Given the description of an element on the screen output the (x, y) to click on. 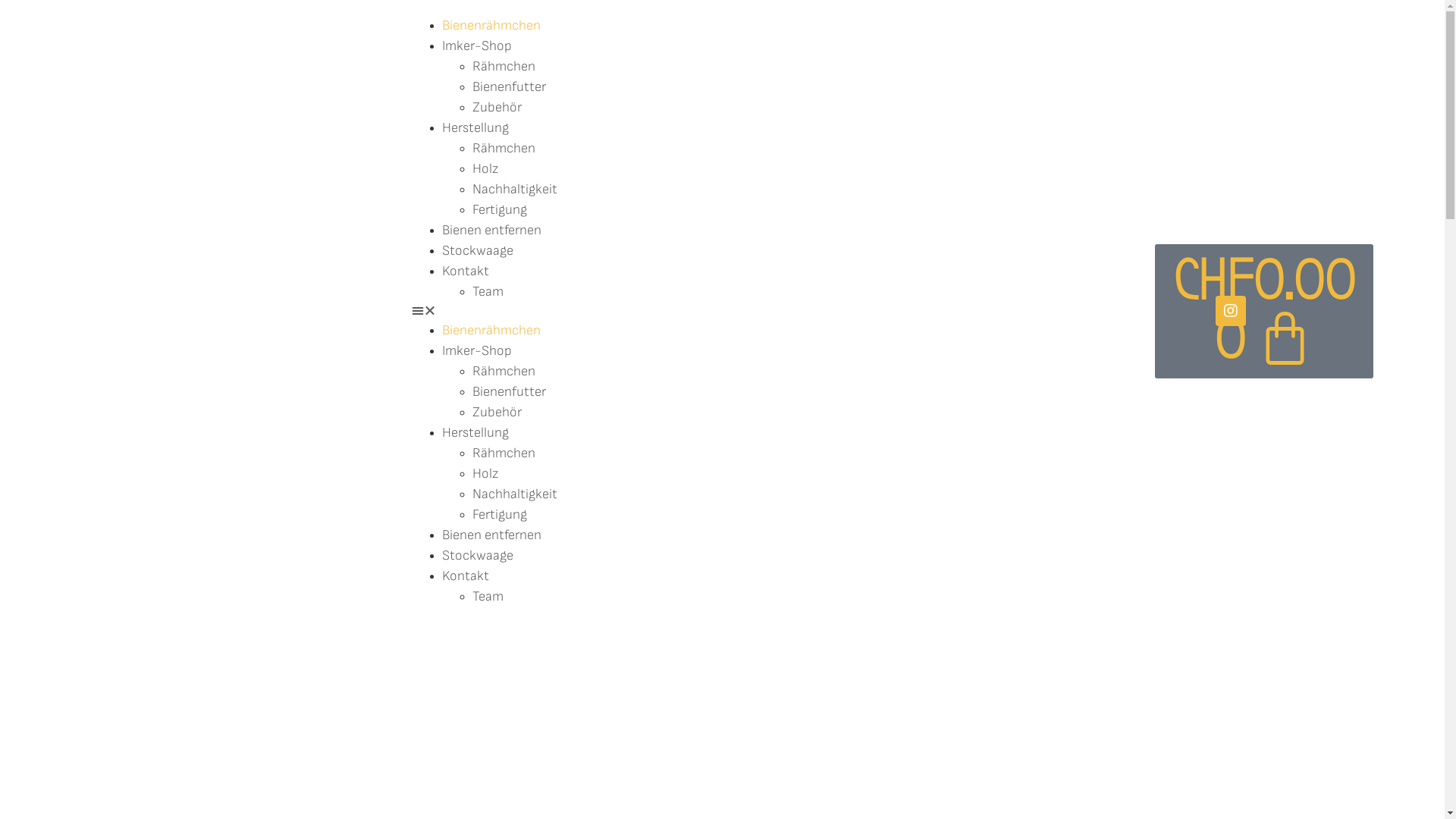
Stockwaage Element type: text (476, 250)
Bienenfutter Element type: text (508, 391)
Nachhaltigkeit Element type: text (513, 494)
Nachhaltigkeit Element type: text (513, 189)
Imker-Shop Element type: text (476, 350)
Fertigung Element type: text (498, 514)
Kontakt Element type: text (464, 575)
Holz Element type: text (484, 473)
Bienen entfernen Element type: text (490, 534)
Team Element type: text (486, 291)
CHF0.00 0 Element type: text (1263, 311)
Stockwaage Element type: text (476, 555)
Bienen entfernen Element type: text (490, 230)
Bienenfutter Element type: text (508, 86)
Imker-Shop Element type: text (476, 45)
Holz Element type: text (484, 168)
Herstellung Element type: text (474, 432)
Kontakt Element type: text (464, 271)
Herstellung Element type: text (474, 127)
Team Element type: text (486, 596)
Fertigung Element type: text (498, 209)
